Given the description of an element on the screen output the (x, y) to click on. 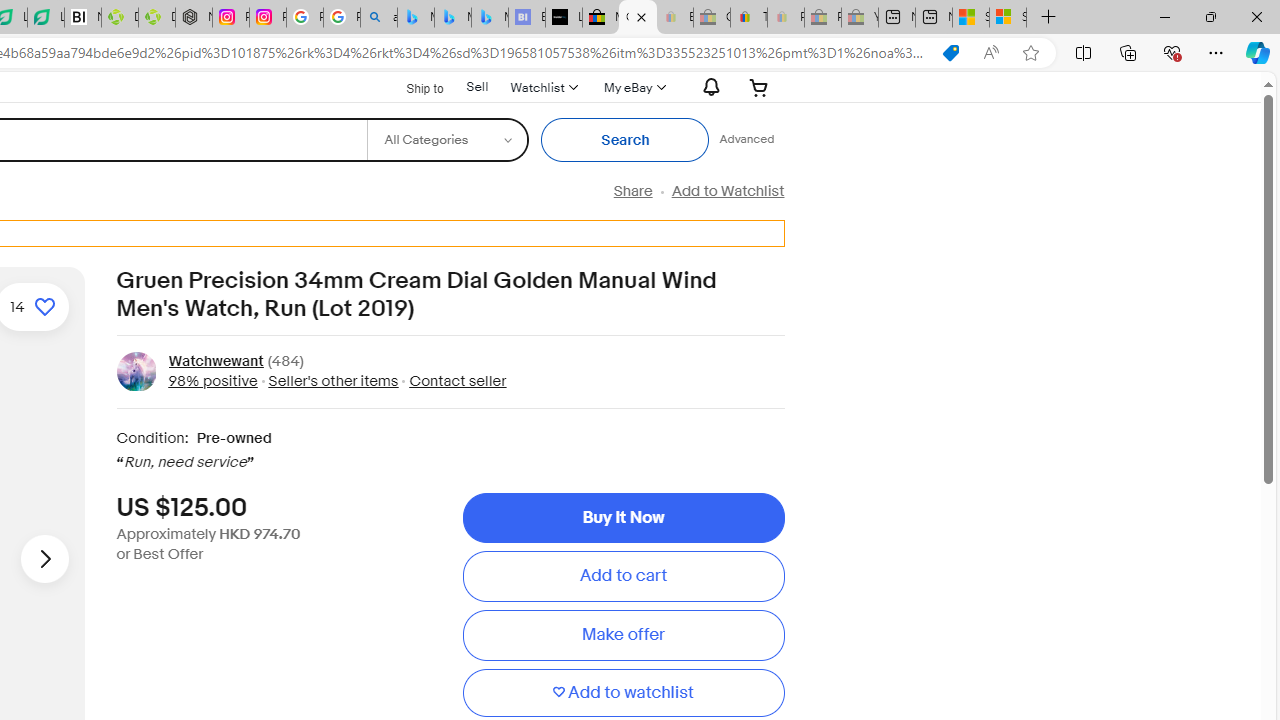
Sell (476, 87)
Microsoft Bing Travel - Shangri-La Hotel Bangkok (490, 17)
Make offer (623, 635)
Expand Cart (759, 87)
Press Room - eBay Inc. - Sleeping (822, 17)
Share (632, 191)
Your shopping cart (759, 87)
Watchwewant (215, 361)
Contact seller (457, 380)
Sign in to your Microsoft account (1007, 17)
98% positive (212, 380)
LendingTree - Compare Lenders (45, 17)
